Given the description of an element on the screen output the (x, y) to click on. 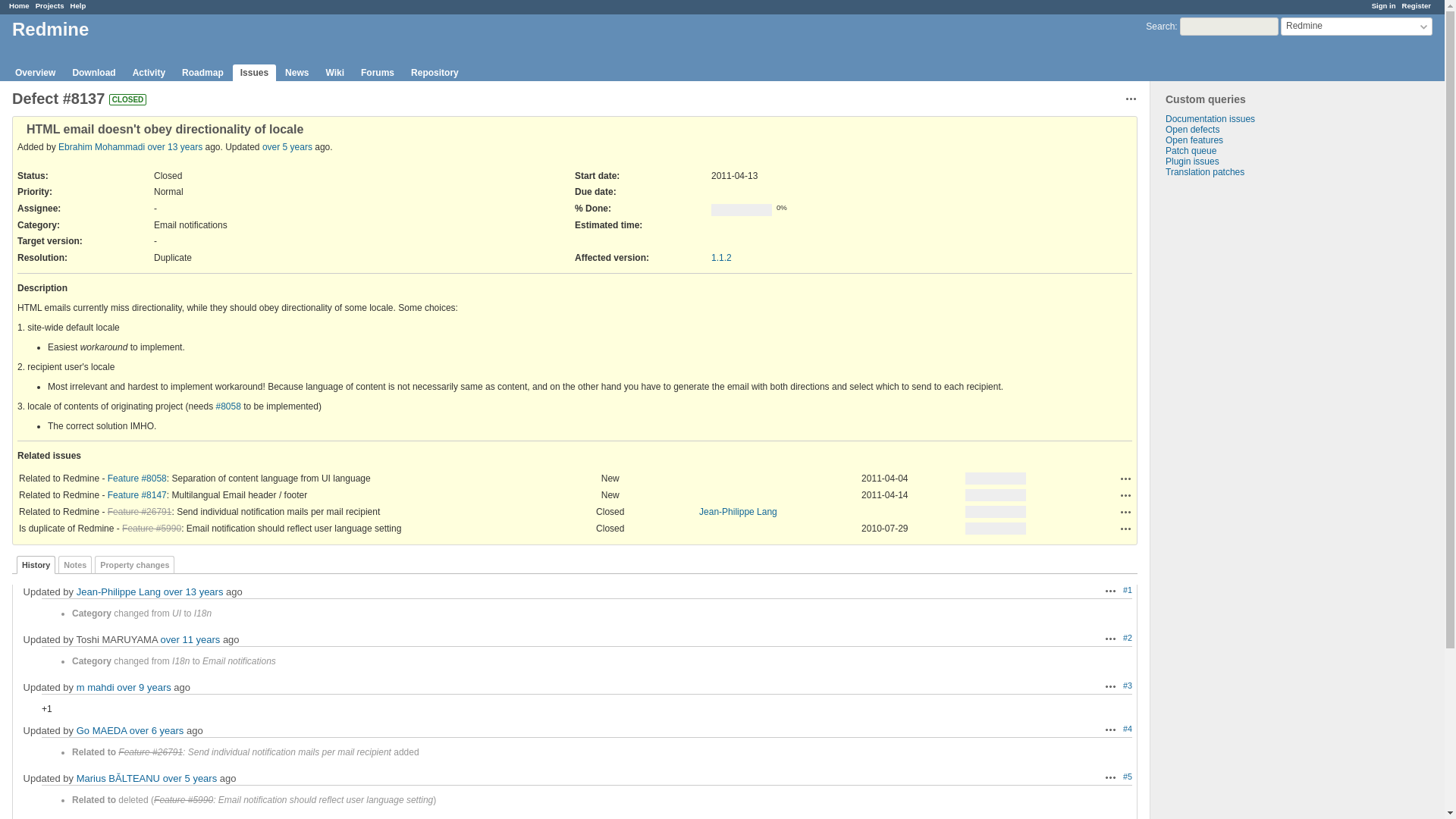
Actions (1125, 478)
2018-11-30 14:14 (287, 146)
Documentation issues (1210, 118)
Open defects (1193, 129)
2015-02-28 14:50 (143, 686)
Actions (1125, 494)
2013-02-16 09:21 (190, 639)
Register (1416, 5)
Actions (1125, 494)
Issues (254, 72)
